Given the description of an element on the screen output the (x, y) to click on. 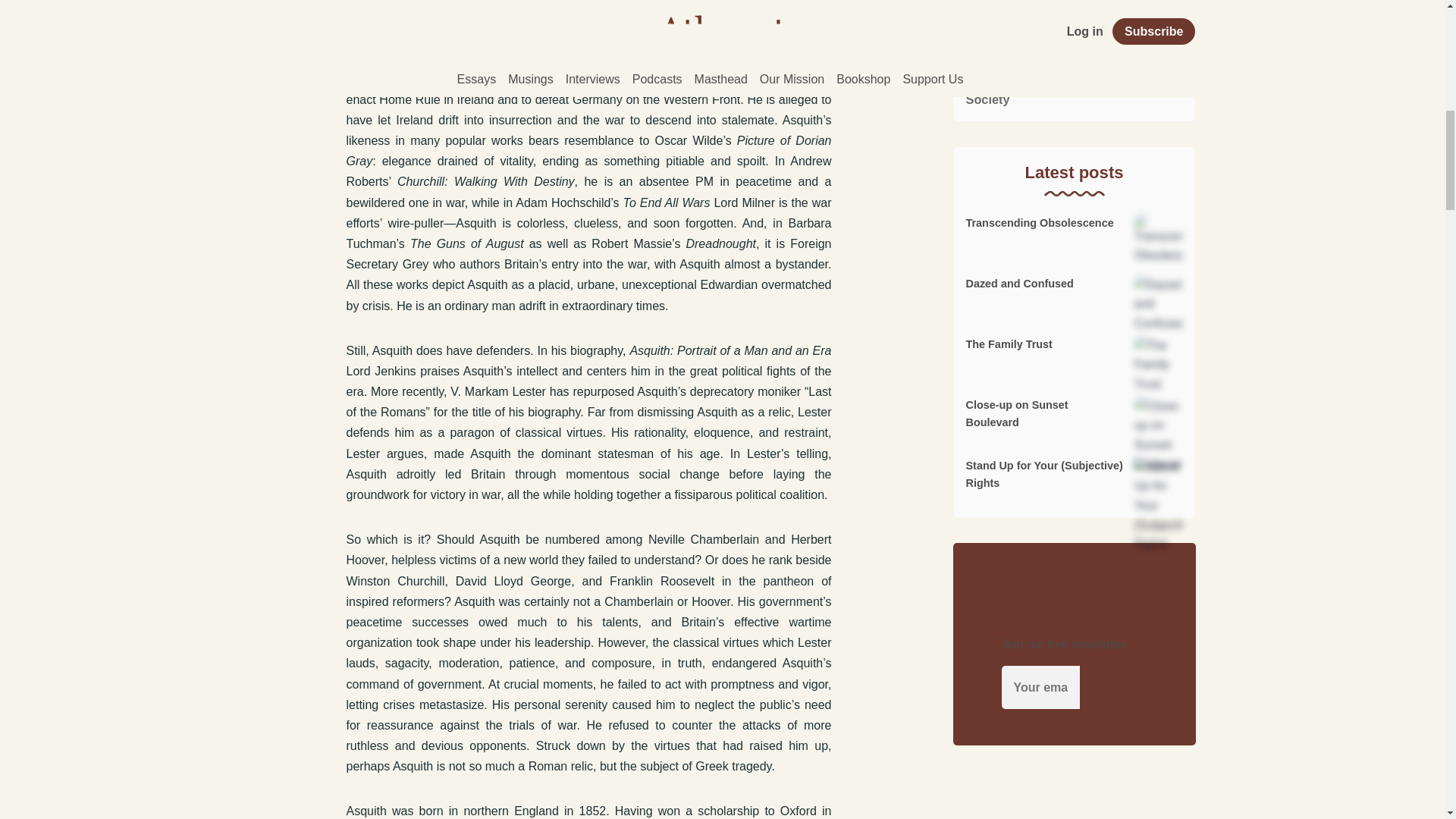
Technology (1074, 66)
Politics (1074, 34)
Society (1074, 95)
Culture (1074, 9)
